Given the description of an element on the screen output the (x, y) to click on. 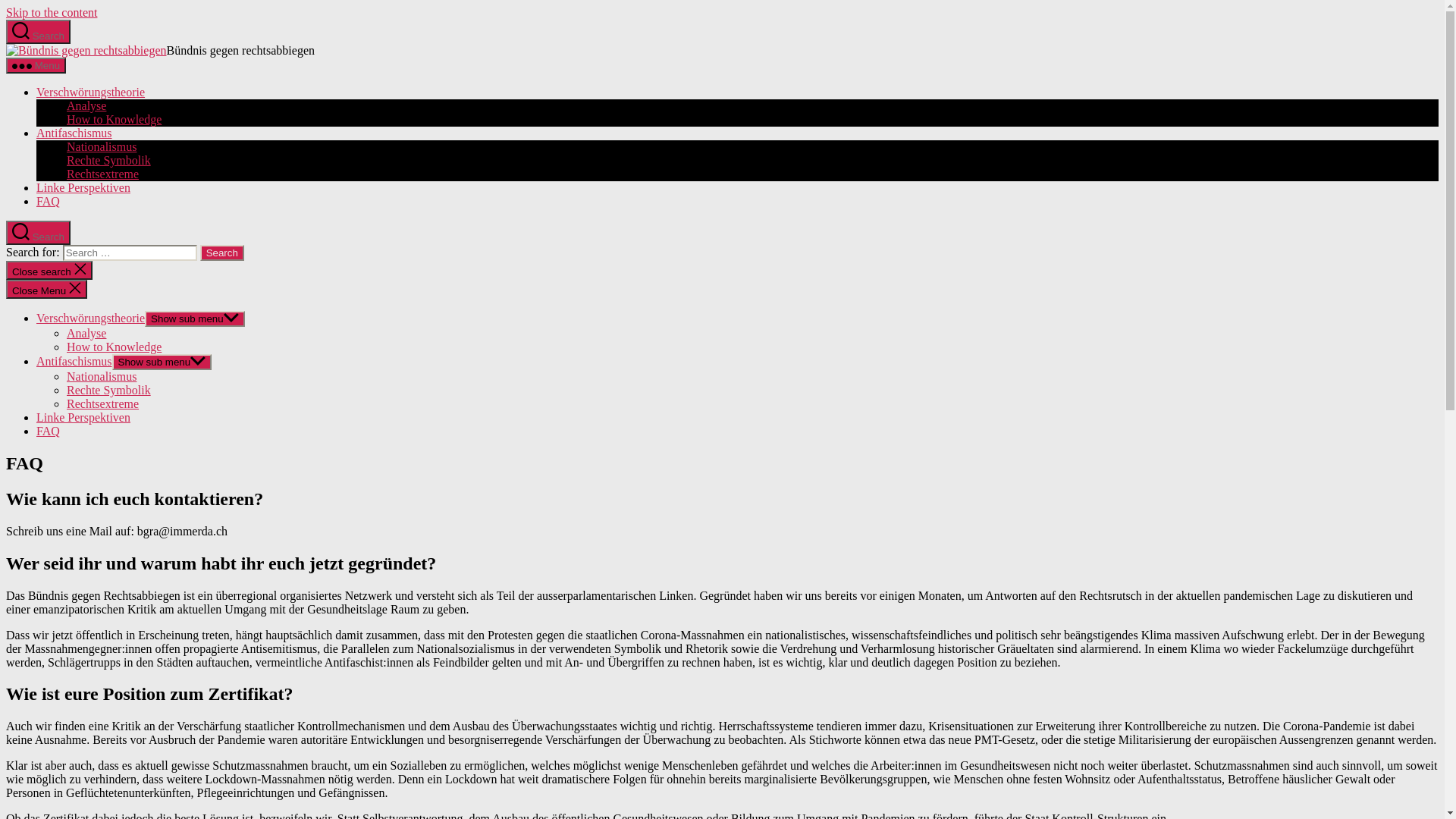
Antifaschismus Element type: text (74, 360)
FAQ Element type: text (47, 430)
Skip to the content Element type: text (51, 12)
Rechte Symbolik Element type: text (108, 159)
Rechtsextreme Element type: text (102, 173)
Analyse Element type: text (86, 332)
Nationalismus Element type: text (101, 146)
Rechtsextreme Element type: text (102, 403)
Analyse Element type: text (86, 105)
Nationalismus Element type: text (101, 376)
Show sub menu Element type: text (162, 362)
Search Element type: text (38, 232)
Linke Perspektiven Element type: text (83, 417)
FAQ Element type: text (47, 200)
How to Knowledge Element type: text (113, 118)
Menu Element type: text (35, 65)
Close Menu Element type: text (46, 288)
Search Element type: text (222, 252)
Antifaschismus Element type: text (74, 132)
Search Element type: text (38, 31)
Rechte Symbolik Element type: text (108, 389)
Show sub menu Element type: text (194, 318)
Linke Perspektiven Element type: text (83, 187)
How to Knowledge Element type: text (113, 346)
Close search Element type: text (49, 269)
